Given the description of an element on the screen output the (x, y) to click on. 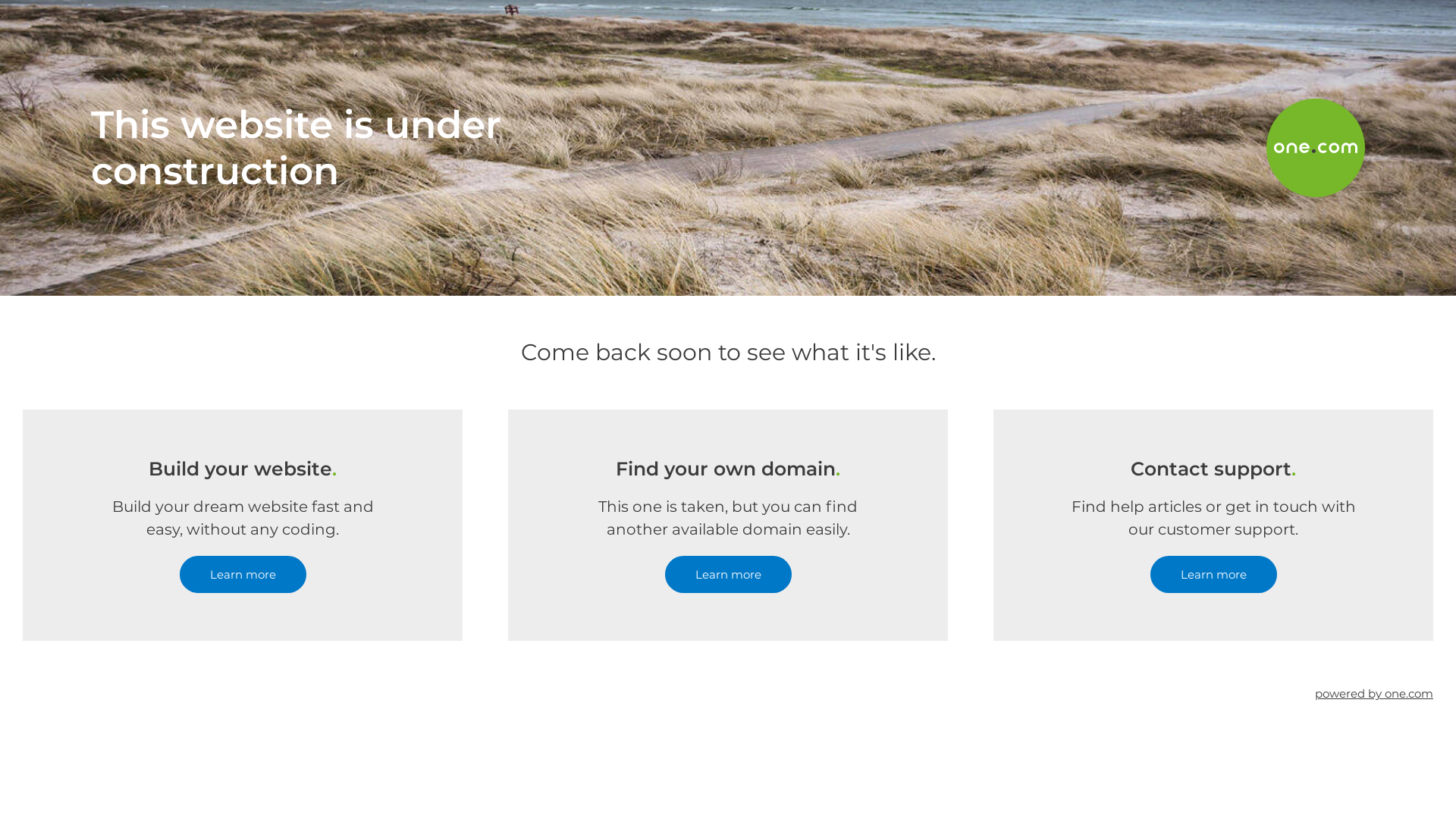
powered by one.com Element type: text (1373, 693)
Learn more Element type: text (1212, 574)
Learn more Element type: text (727, 574)
Learn more Element type: text (241, 574)
